Given the description of an element on the screen output the (x, y) to click on. 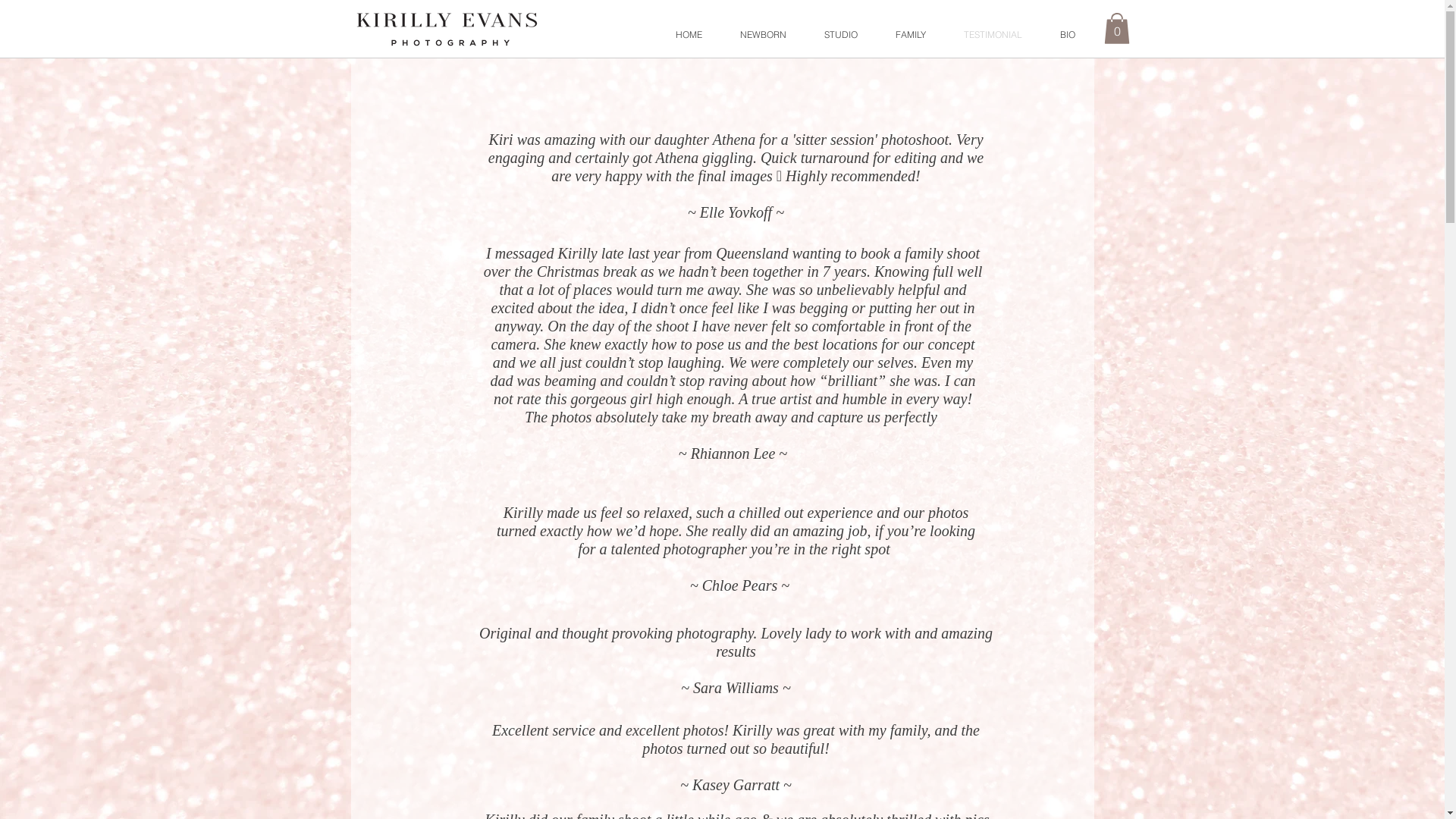
BIO Element type: text (1066, 34)
STUDIO Element type: text (840, 34)
TESTIMONIAL Element type: text (992, 34)
0 Element type: text (1116, 27)
HOME Element type: text (688, 34)
Kirrily Evans.png Element type: hover (448, 21)
FAMILY Element type: text (910, 34)
NEWBORN Element type: text (762, 34)
